Given the description of an element on the screen output the (x, y) to click on. 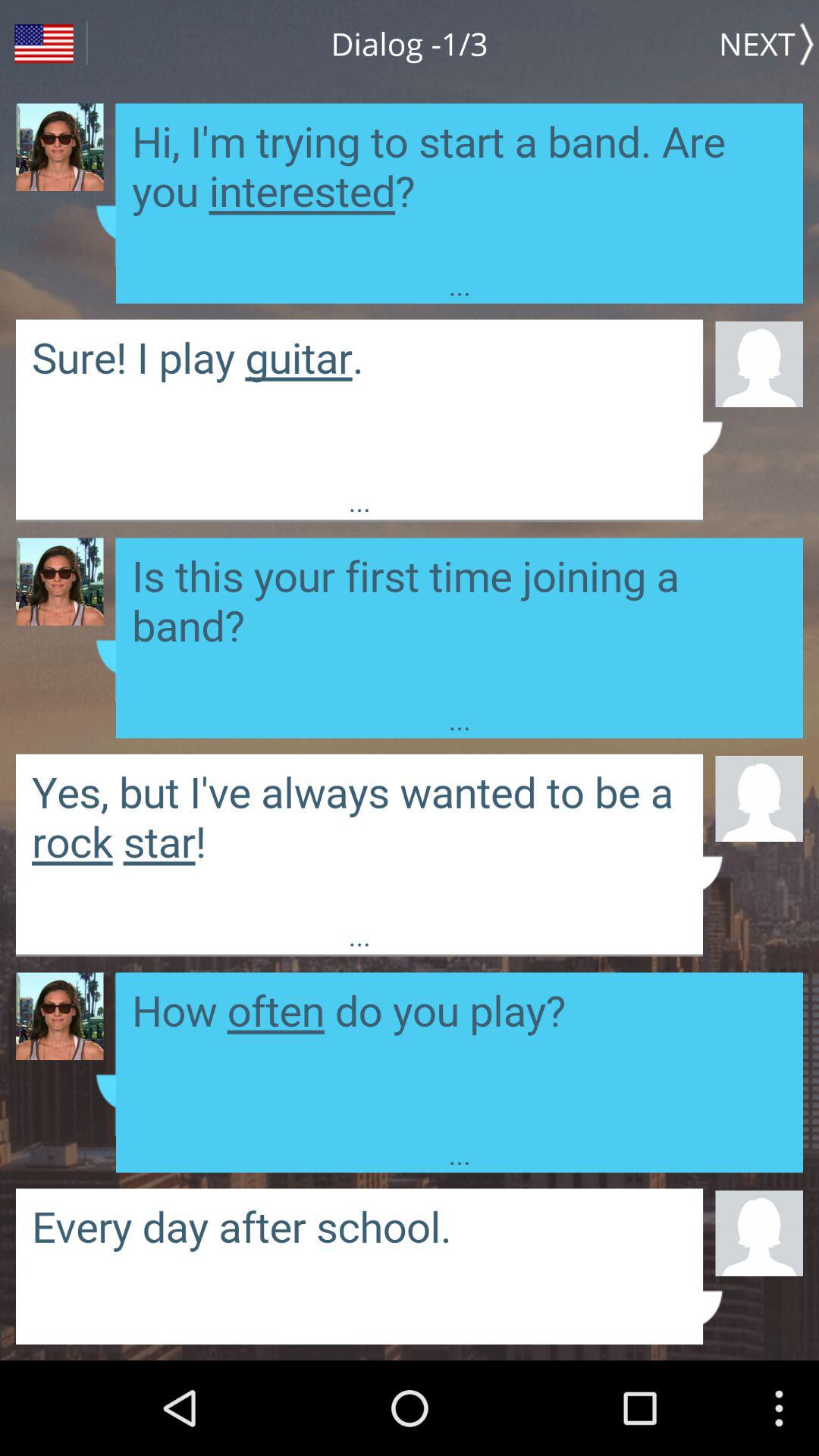
text replying to user (459, 619)
